Given the description of an element on the screen output the (x, y) to click on. 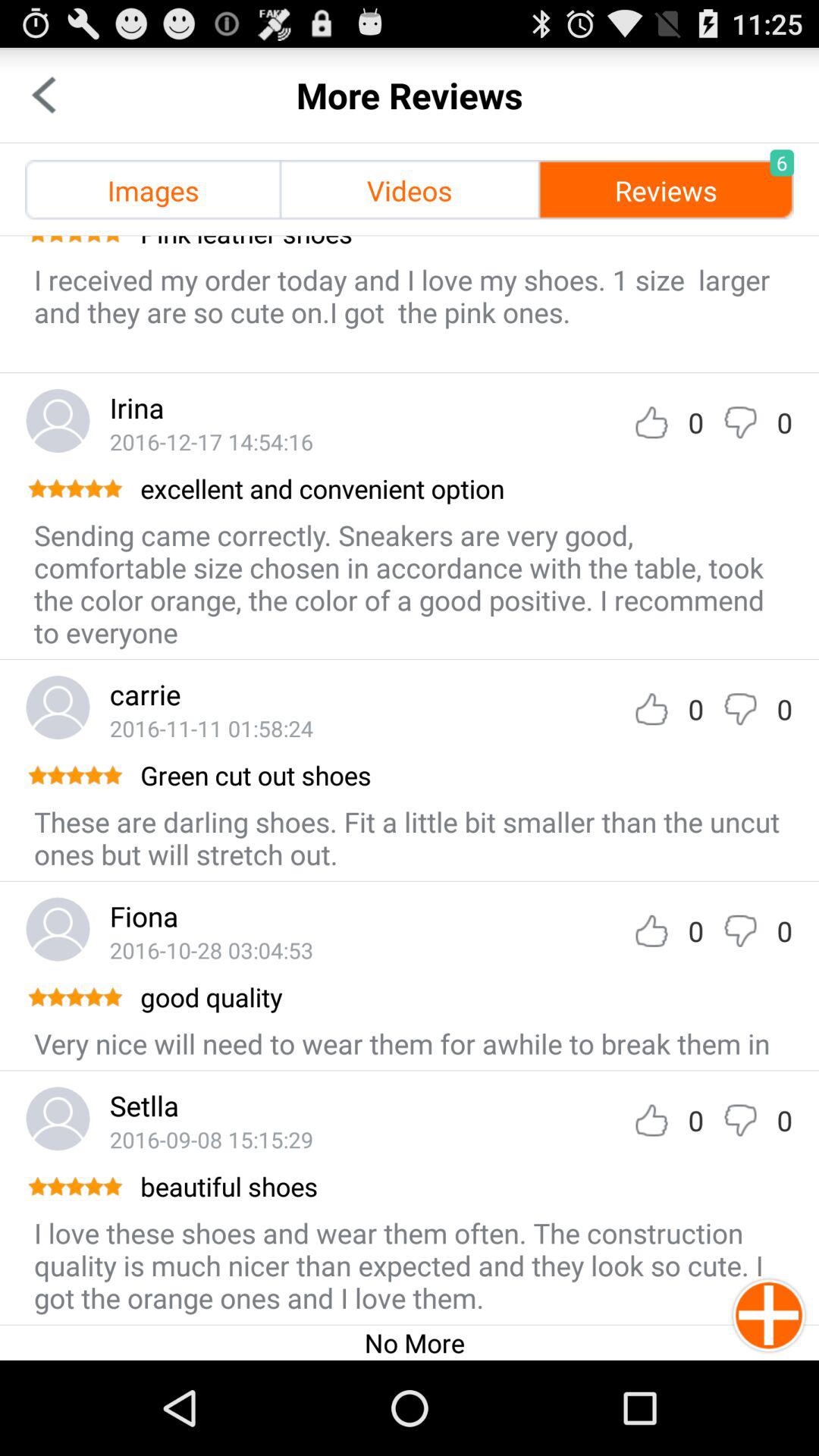
launch 2016 11 11 icon (211, 728)
